Given the description of an element on the screen output the (x, y) to click on. 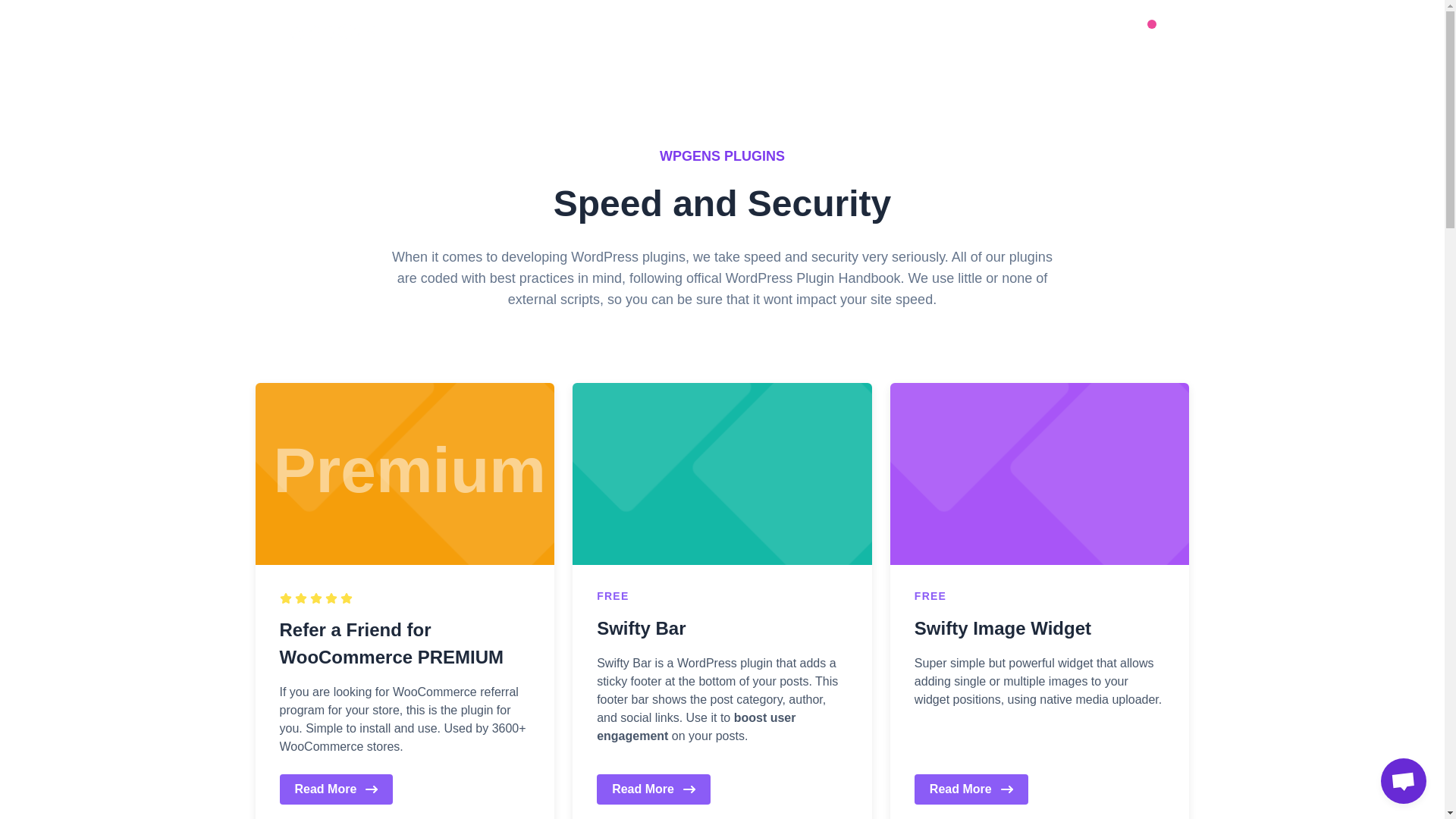
Read More (336, 788)
Contact (936, 31)
Plugins (652, 31)
Read More (653, 788)
Read More (970, 788)
Documentation (825, 31)
Hire (726, 31)
Home (572, 31)
